Given the description of an element on the screen output the (x, y) to click on. 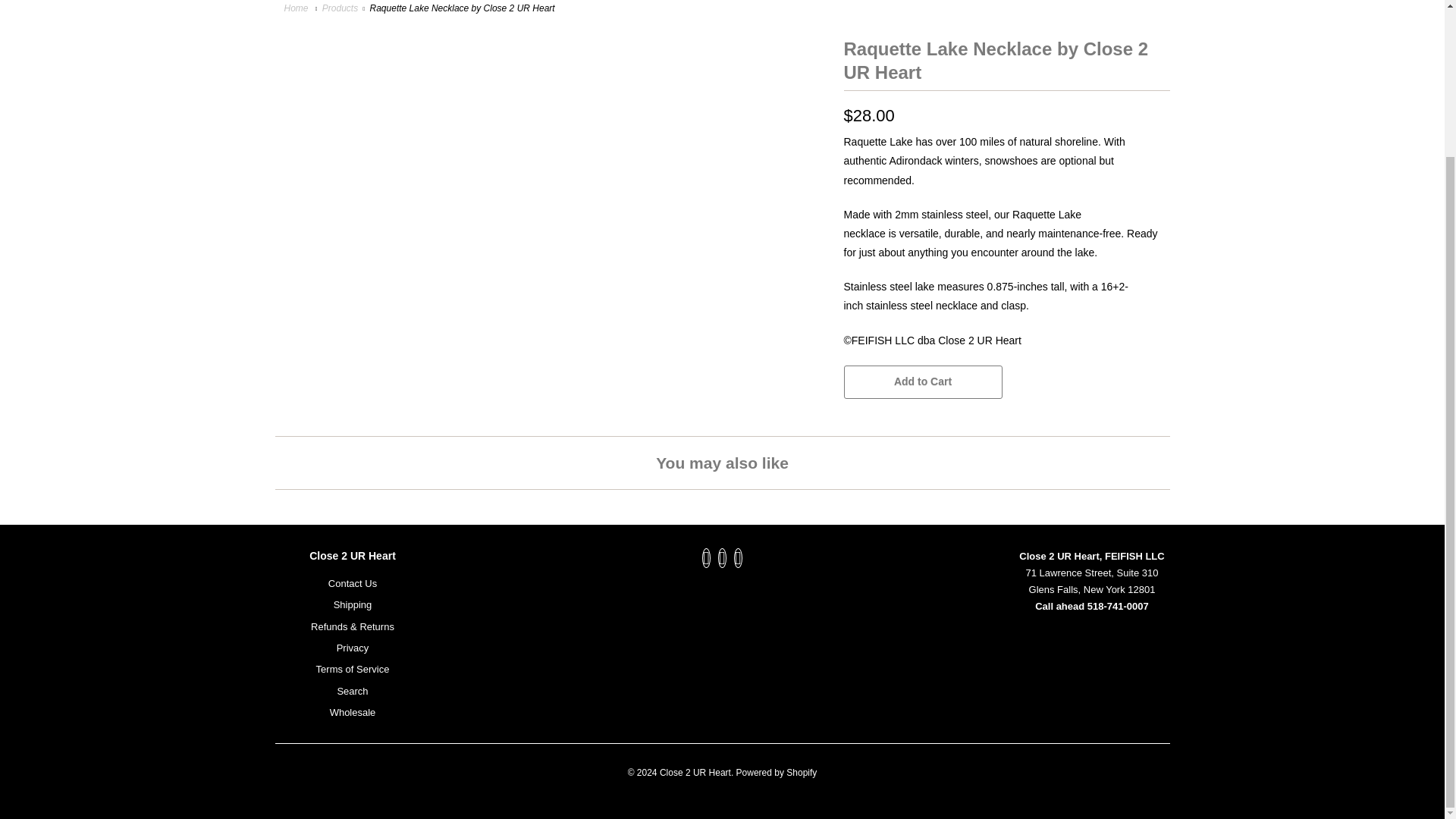
Home (296, 8)
Raquette Lake Necklace by Close 2 UR Heart (551, 42)
Add to Cart (922, 381)
Products (339, 8)
Products (339, 8)
Close 2 UR Heart (296, 8)
